Given the description of an element on the screen output the (x, y) to click on. 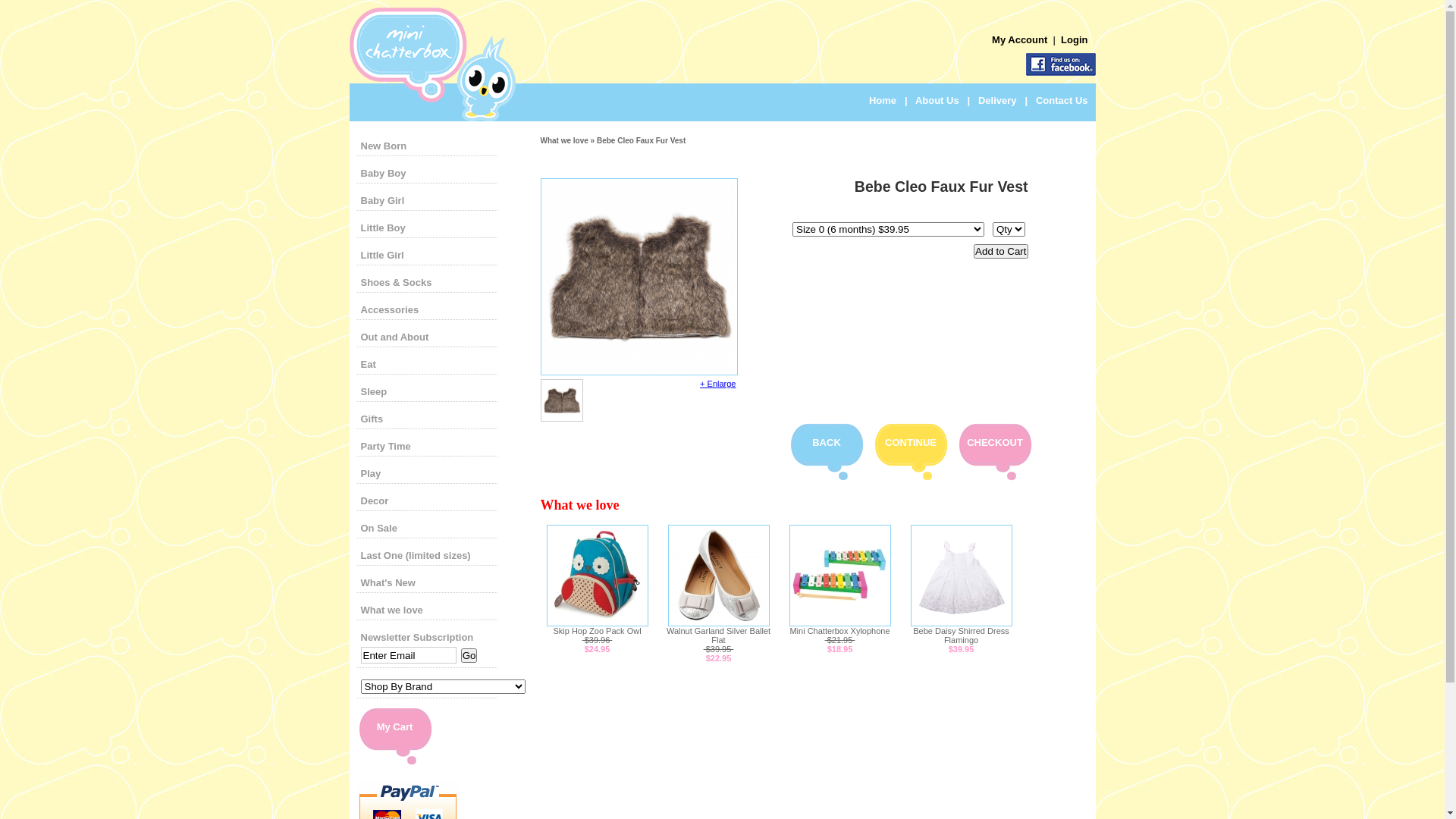
Login Element type: text (1073, 39)
Decor Element type: text (374, 500)
Walnut Garland Silver Ballet Flat Element type: hover (717, 622)
Contact Us Element type: text (1061, 100)
Facebook Element type: text (1060, 64)
New Born Element type: text (383, 145)
Bebe Daisy Shirred Dress Flamingo Element type: hover (960, 622)
Sleep Element type: text (373, 391)
BACK Element type: text (826, 442)
What's New Element type: text (387, 582)
Mini Chatterbox Xylophone Element type: hover (839, 622)
Skip Hop Zoo Pack Owl Element type: text (596, 630)
Gifts Element type: text (371, 418)
About Us Element type: text (937, 100)
Mini Chatterbox Xylophone Element type: text (839, 630)
What we love Element type: text (391, 609)
Bebe Daisy Shirred Dress Flamingo Element type: text (961, 635)
Baby Boy Element type: text (383, 172)
Accessories Element type: text (389, 309)
CHECKOUT Element type: text (994, 442)
Walnut Garland Silver Ballet Flat Element type: text (718, 635)
Last One (limited sizes) Element type: text (415, 555)
Bebe Cleo Faux Fur Vest Element type: hover (639, 367)
+ Enlarge Element type: text (717, 383)
My Account Element type: text (1020, 39)
Baby Girl Element type: text (382, 200)
Little Boy Element type: text (382, 227)
Eat Element type: text (368, 364)
Skip Hop Zoo Pack Owl Element type: hover (596, 622)
Go Element type: text (469, 654)
Home Element type: text (882, 100)
My Cart Element type: text (394, 726)
Delivery Element type: text (997, 100)
Play Element type: text (370, 473)
Add to Cart Element type: text (1000, 251)
Little Girl Element type: text (382, 254)
CONTINUE Element type: text (910, 442)
Newsletter Subscription Element type: text (416, 637)
On Sale Element type: text (378, 527)
Shoes & Socks Element type: text (396, 282)
Out and About Element type: text (394, 336)
Party Time Element type: text (385, 445)
